Given the description of an element on the screen output the (x, y) to click on. 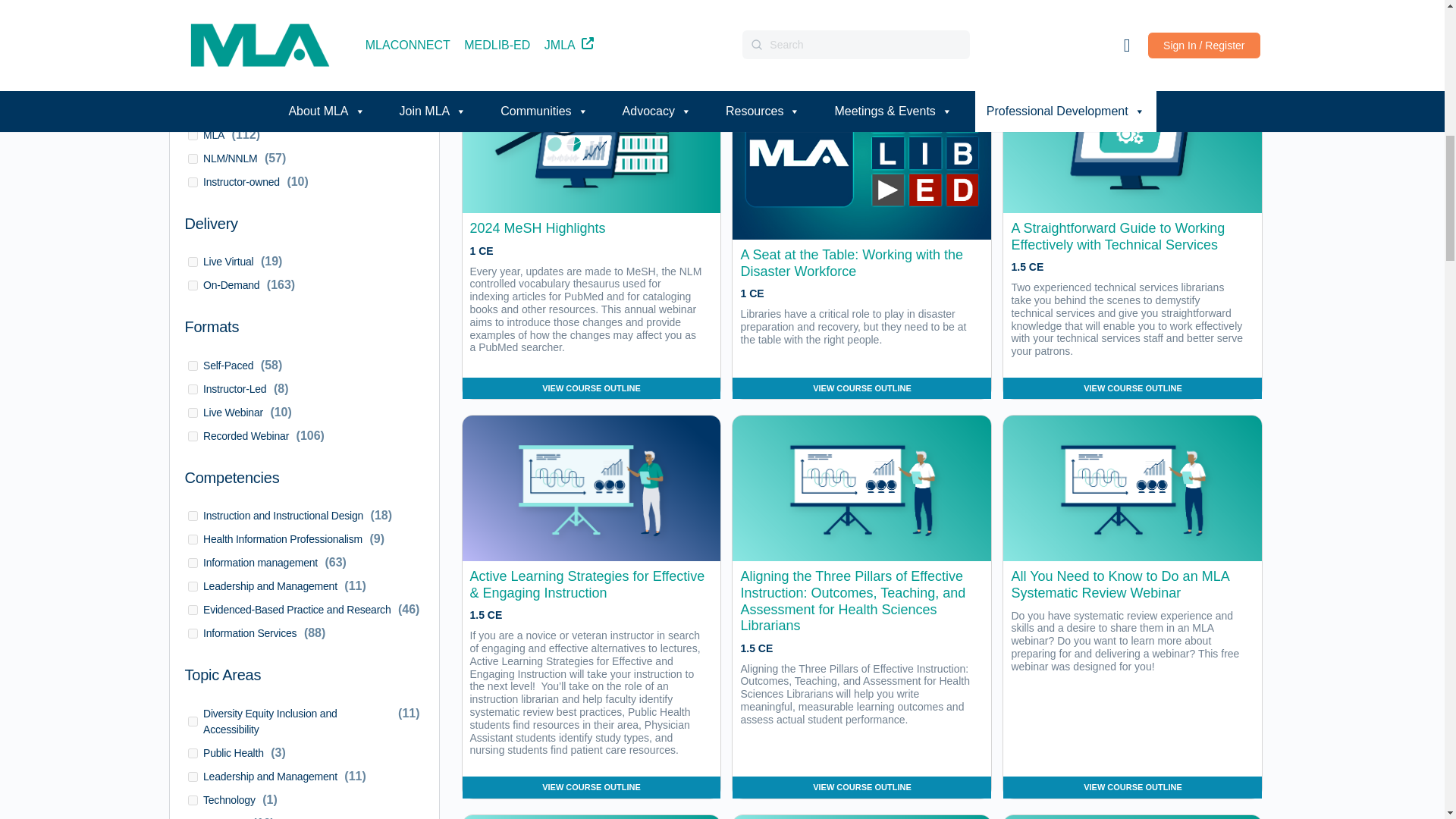
on (192, 515)
on (192, 777)
on (192, 586)
on (192, 412)
on (192, 752)
on (192, 182)
on (192, 633)
on (192, 261)
on (192, 610)
on (192, 562)
on (192, 285)
on (192, 721)
on (192, 539)
on (192, 435)
on (192, 135)
